Given the description of an element on the screen output the (x, y) to click on. 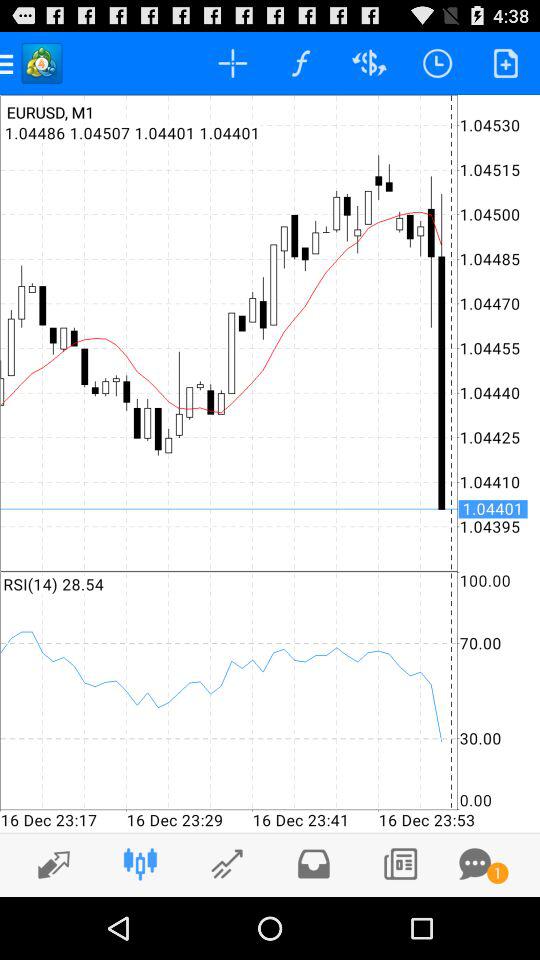
enlarge screen (48, 864)
